Given the description of an element on the screen output the (x, y) to click on. 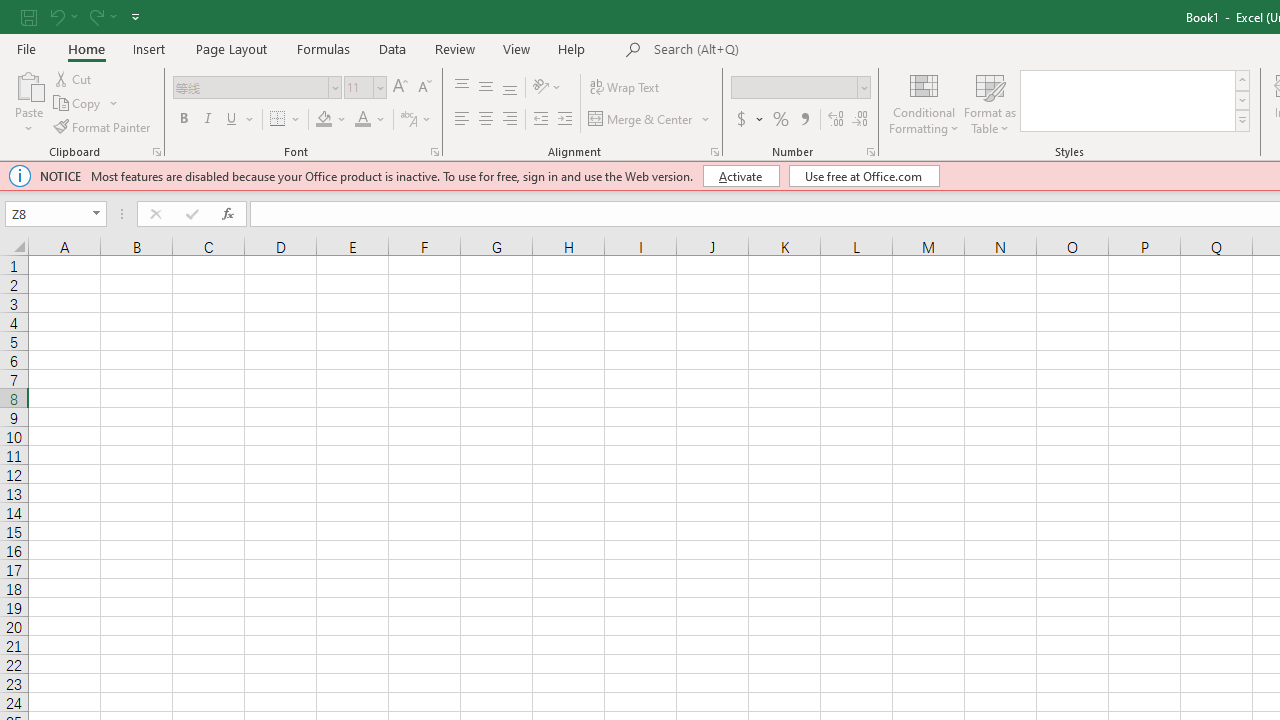
Font (250, 87)
Percent Style (781, 119)
Decrease Indent (540, 119)
Orientation (547, 87)
Show Phonetic Field (408, 119)
Number Format (794, 87)
Number Format (800, 87)
Decrease Font Size (424, 87)
Show Phonetic Field (416, 119)
